Given the description of an element on the screen output the (x, y) to click on. 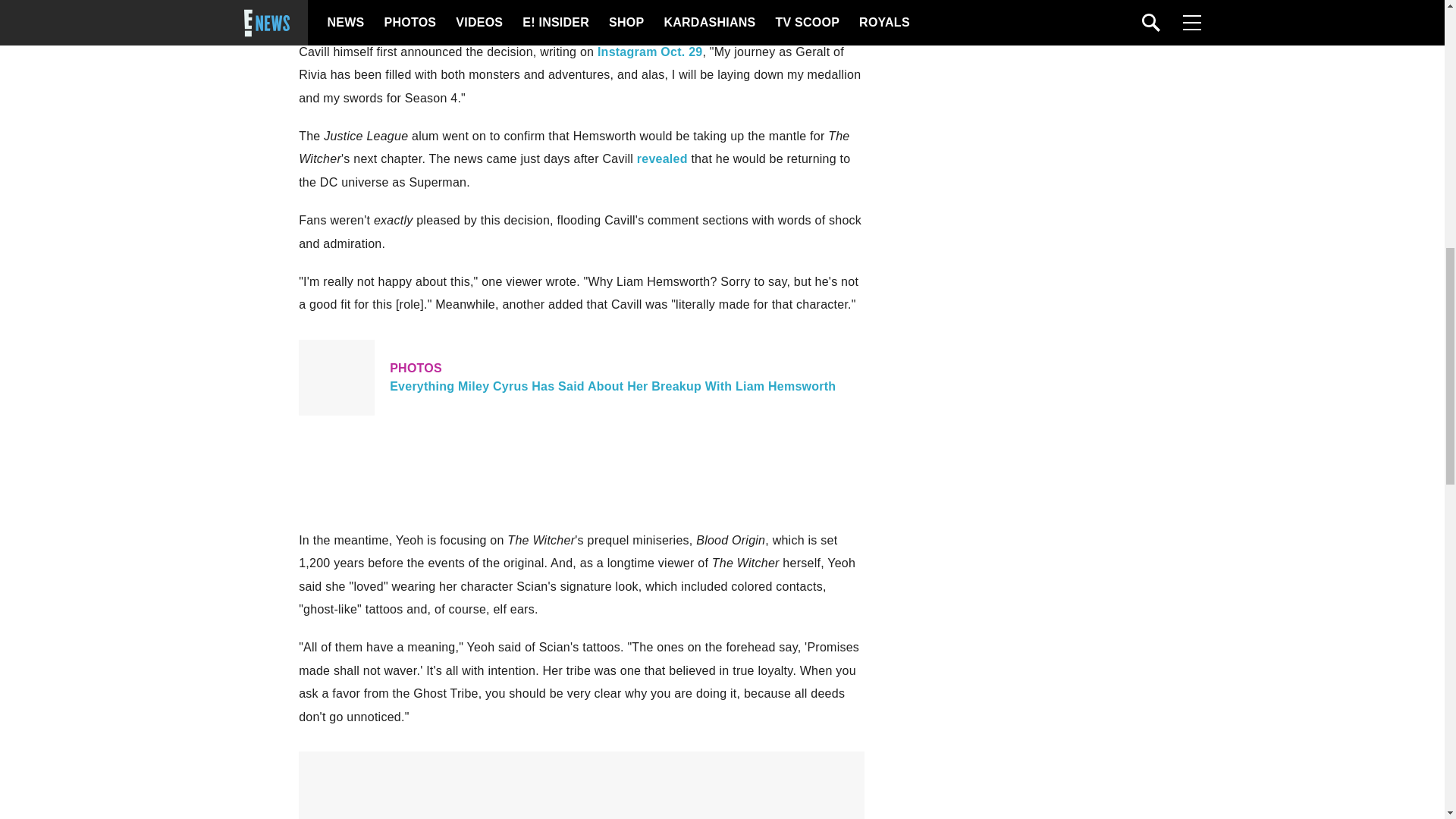
Instagram Oct. 29 (649, 51)
revealed (662, 158)
